Given the description of an element on the screen output the (x, y) to click on. 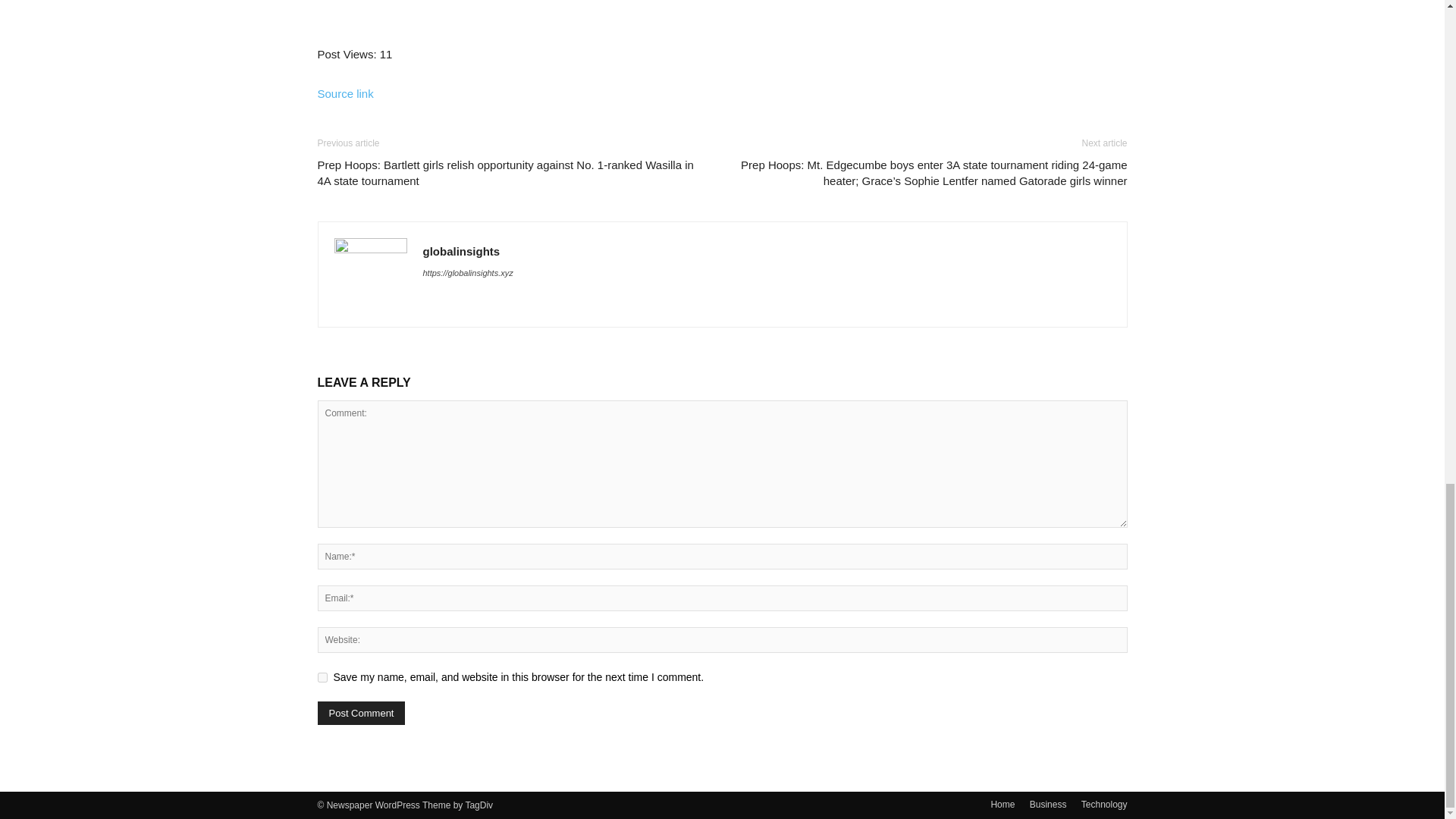
yes (321, 677)
Technology (1103, 804)
globalinsights (461, 250)
Home (1002, 804)
Source link (344, 92)
Post Comment (360, 712)
Business (1048, 804)
Post Comment (360, 712)
